Given the description of an element on the screen output the (x, y) to click on. 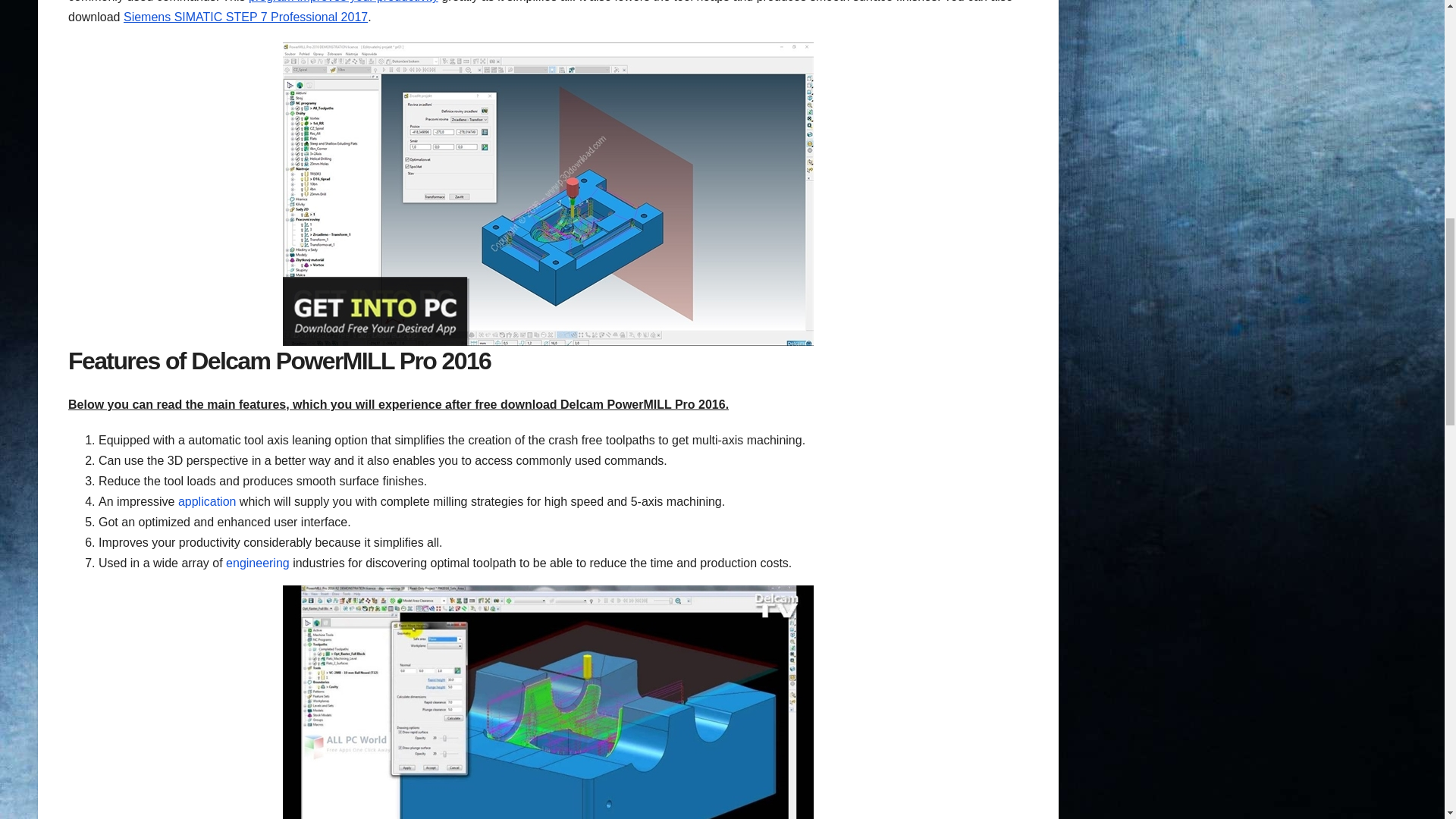
engineering (257, 562)
program improves your productivity (343, 1)
application (206, 501)
Siemens SIMATIC STEP 7 Professional 2017 (245, 16)
